Given the description of an element on the screen output the (x, y) to click on. 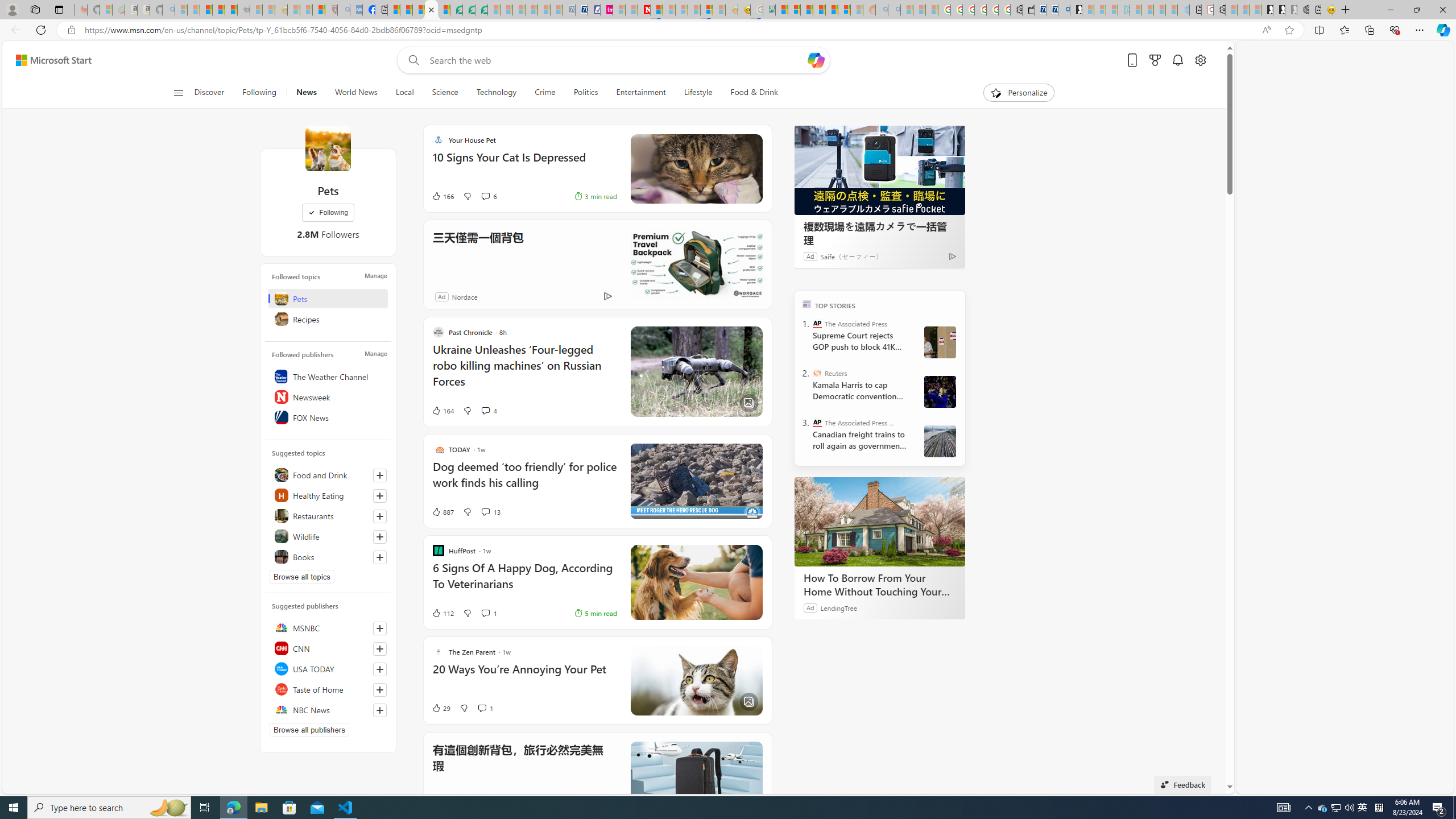
Cheap Car Rentals - Save70.com (1051, 9)
Local - MSN (318, 9)
Restaurants (327, 515)
